Given the description of an element on the screen output the (x, y) to click on. 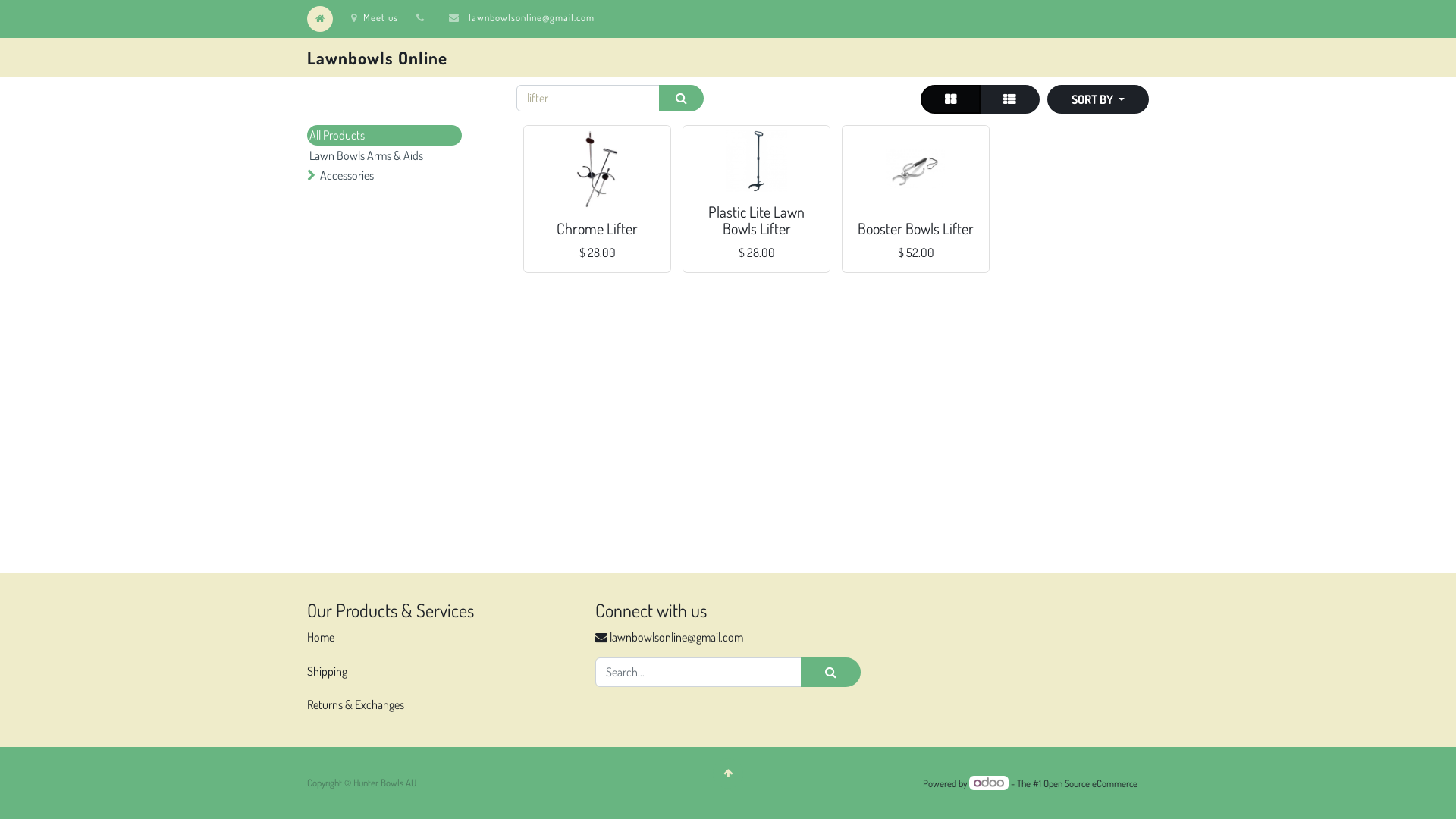
Accessories Element type: text (394, 175)
Chrome Lifter Element type: text (596, 228)
Open Source eCommerce Element type: text (1090, 783)
Lawn Bowls Arms & Aids Element type: text (384, 155)
Shopping cart Element type: hover (913, 208)
Grid Element type: hover (950, 98)
Fold Element type: hover (311, 175)
Search Element type: hover (830, 671)
Search Element type: hover (680, 97)
SORT BY Element type: text (1097, 98)
Shopping cart Element type: hover (595, 208)
All Products Element type: text (384, 134)
lawnbowlsonline@gmail.com Element type: text (531, 17)
Lawnbowls Online Element type: text (391, 57)
Booster Bowls Lifter Element type: text (915, 228)
Plastic Lite Lawn Bowls Lifter Element type: text (756, 219)
Home Element type: text (320, 636)
List Element type: hover (1009, 98)
Meet us Element type: text (374, 17)
Returns & Exchanges Element type: text (355, 704)
Shipping Element type: text (327, 670)
Shopping cart Element type: hover (754, 191)
